Given the description of an element on the screen output the (x, y) to click on. 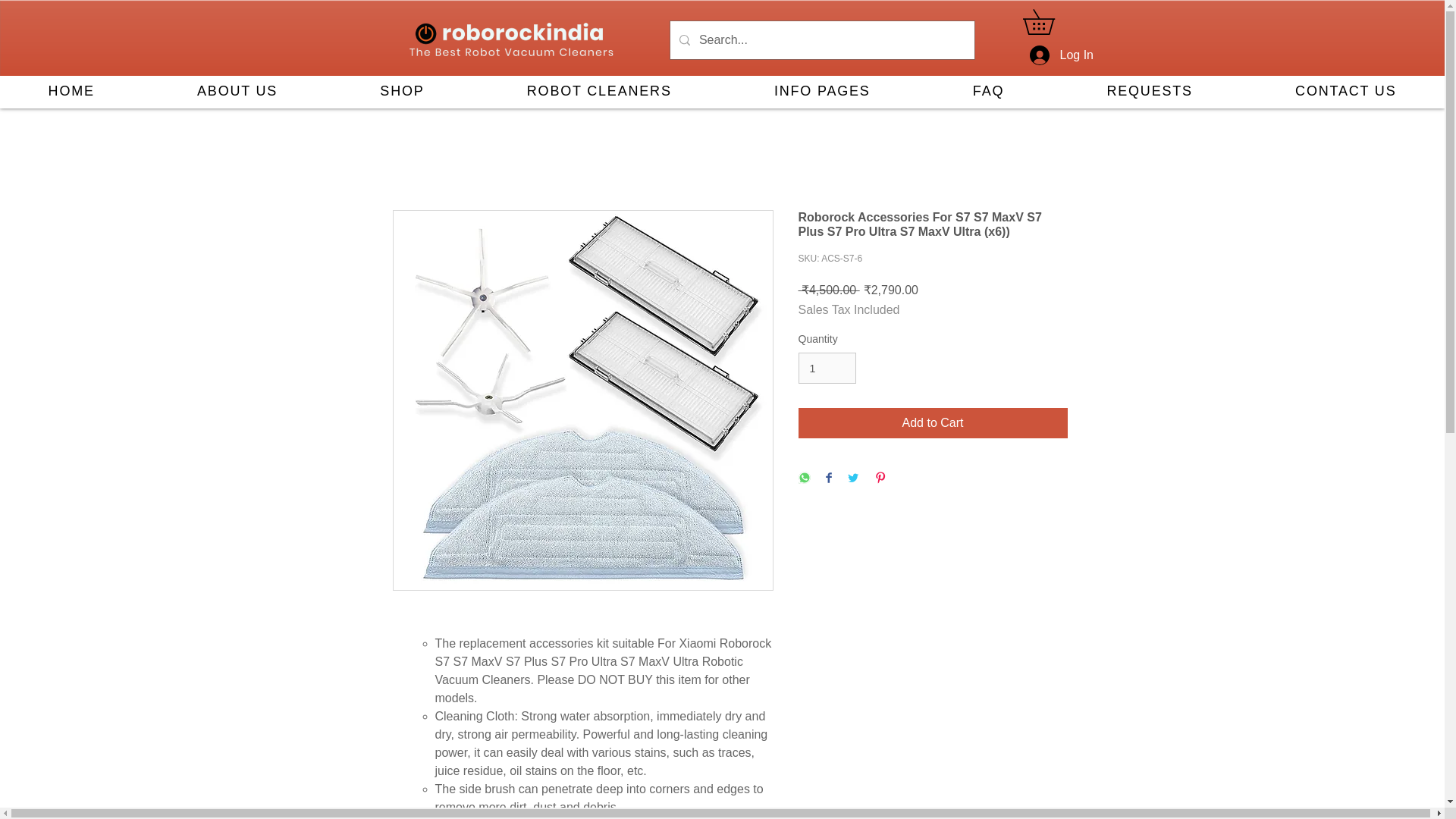
FAQ (988, 92)
Log In (1048, 54)
CONTACT US (1345, 92)
ROBOT CLEANERS (599, 92)
ABOUT US (236, 92)
1 (826, 368)
Add to Cart (932, 422)
HOME (71, 92)
SHOP (401, 92)
REQUESTS (1149, 92)
